Given the description of an element on the screen output the (x, y) to click on. 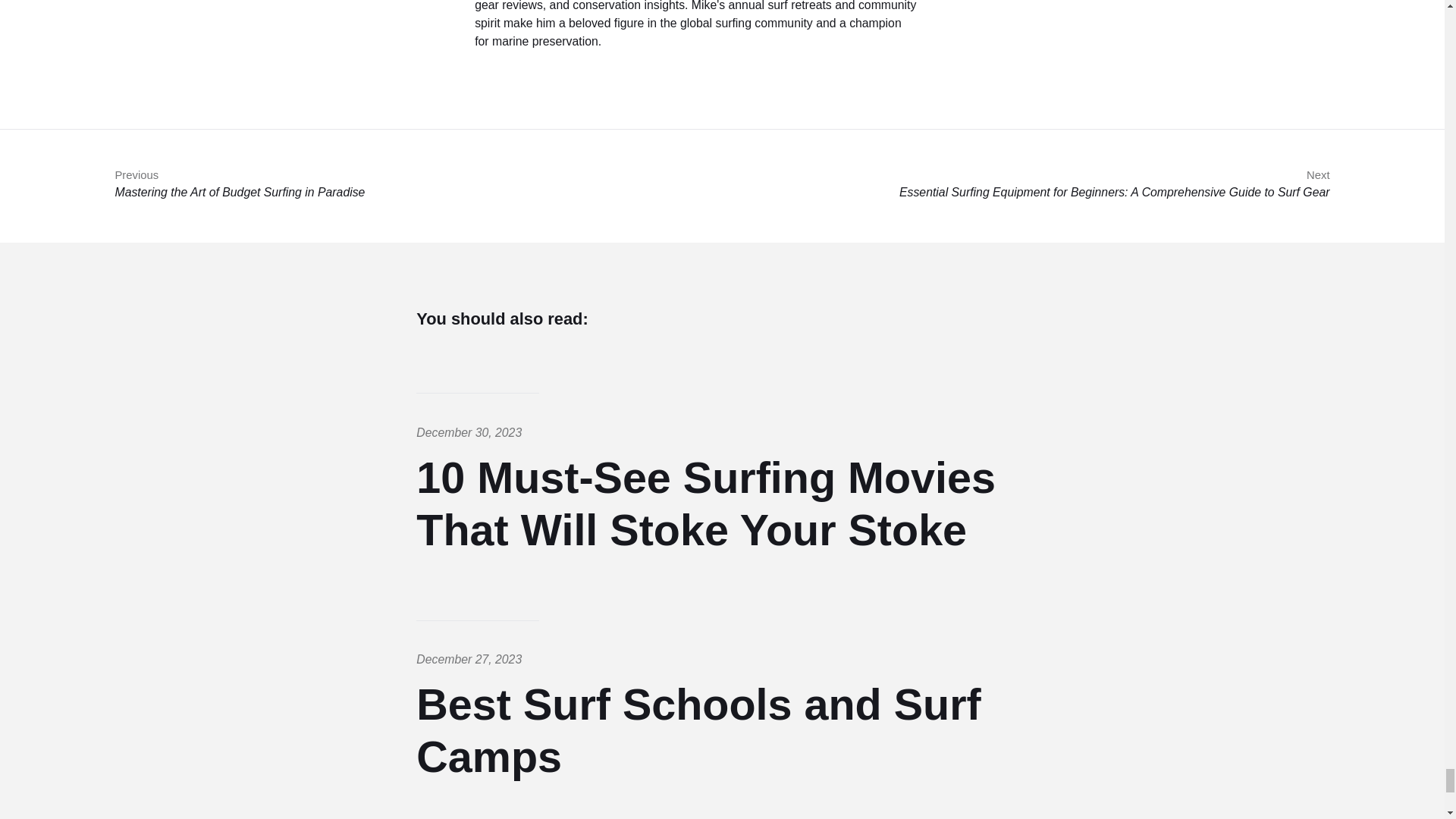
Best Surf Schools and Surf Camps (697, 730)
10 Must-See Surfing Movies That Will Stoke Your Stoke (705, 503)
